Given the description of an element on the screen output the (x, y) to click on. 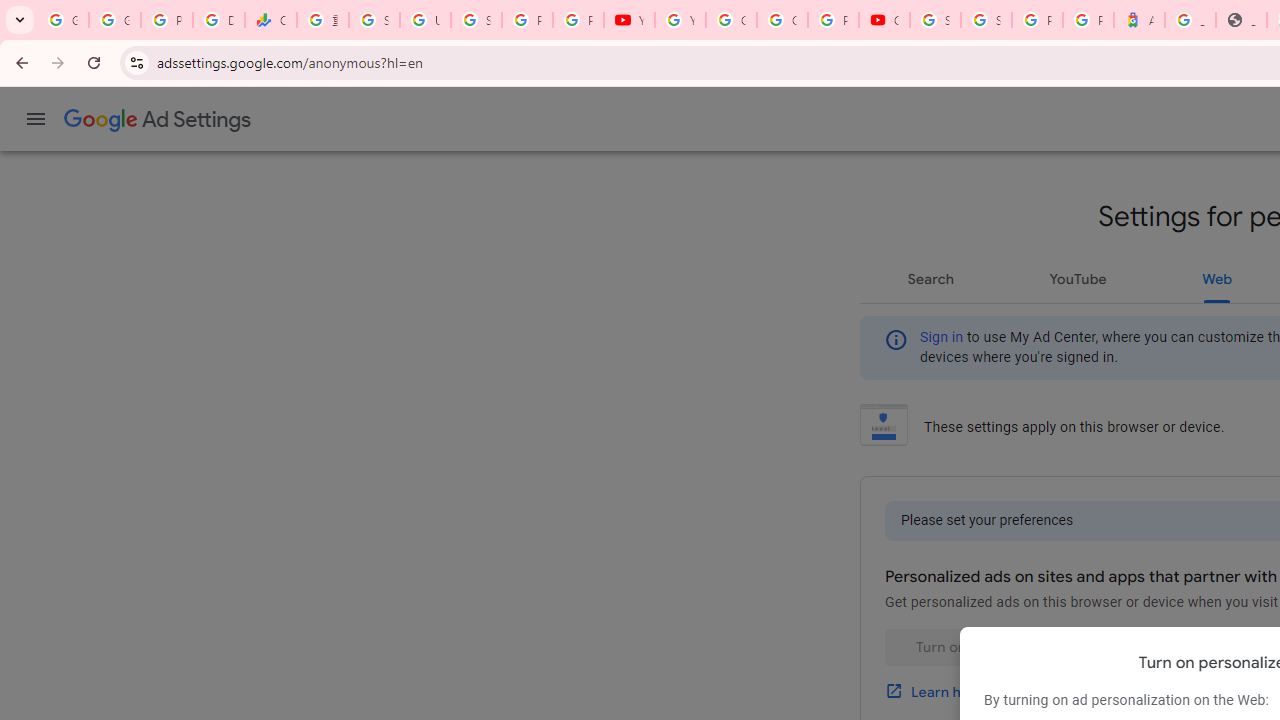
Google Workspace Admin Community (63, 20)
